Given the description of an element on the screen output the (x, y) to click on. 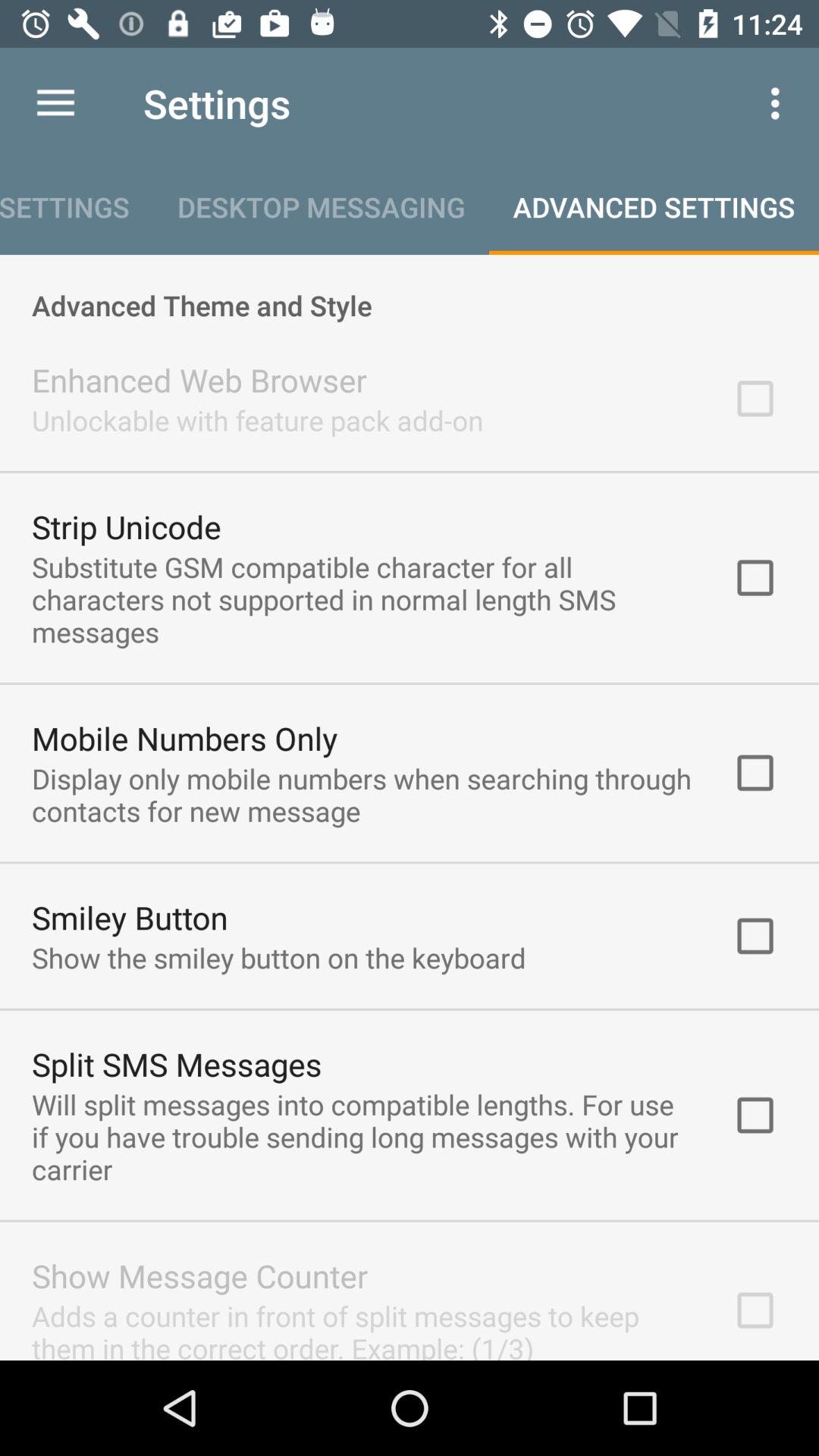
flip until the strip unicode item (126, 526)
